Given the description of an element on the screen output the (x, y) to click on. 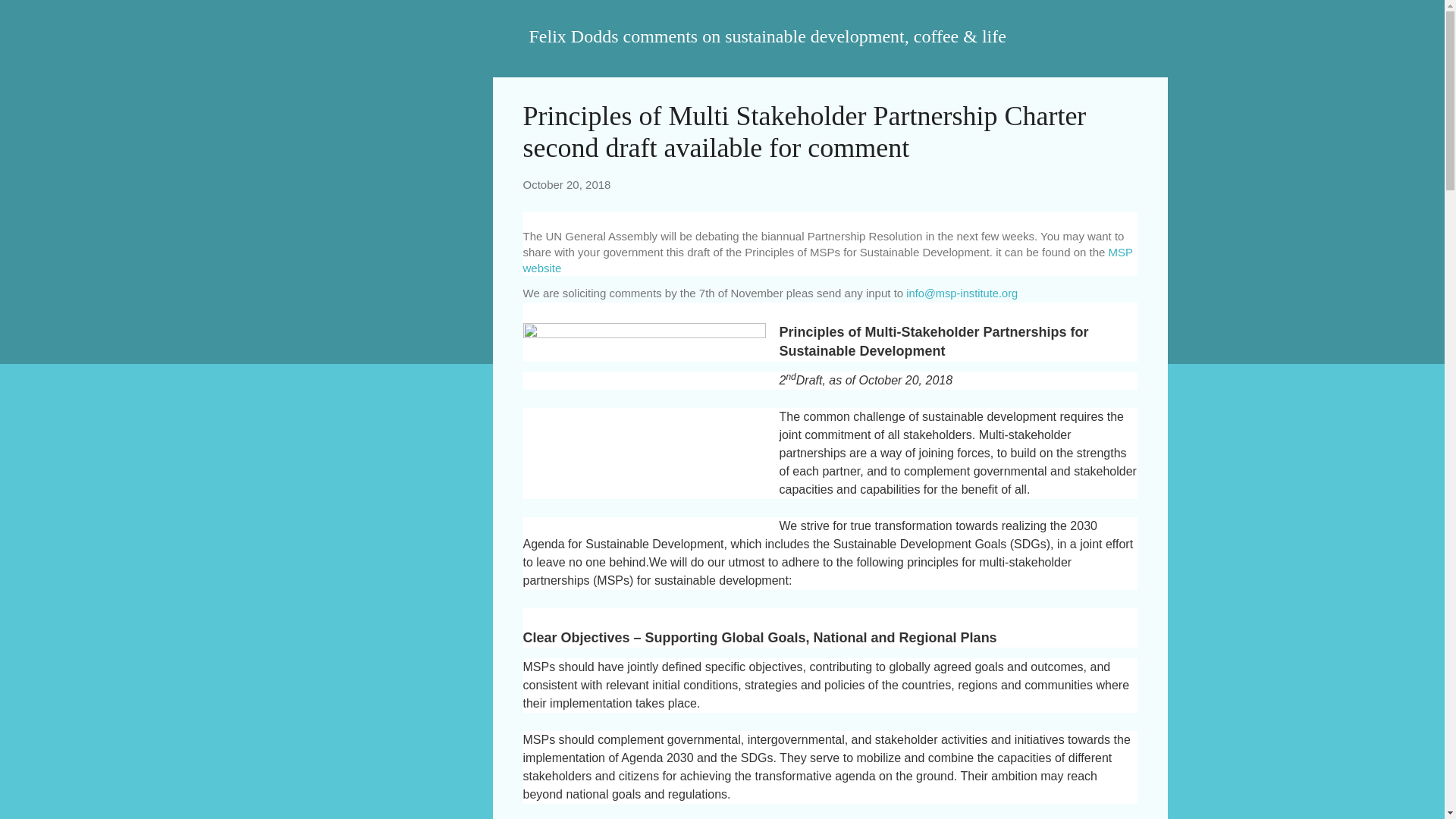
Search (29, 18)
October 20, 2018 (566, 184)
permanent link (566, 184)
MSP website (827, 259)
